Given the description of an element on the screen output the (x, y) to click on. 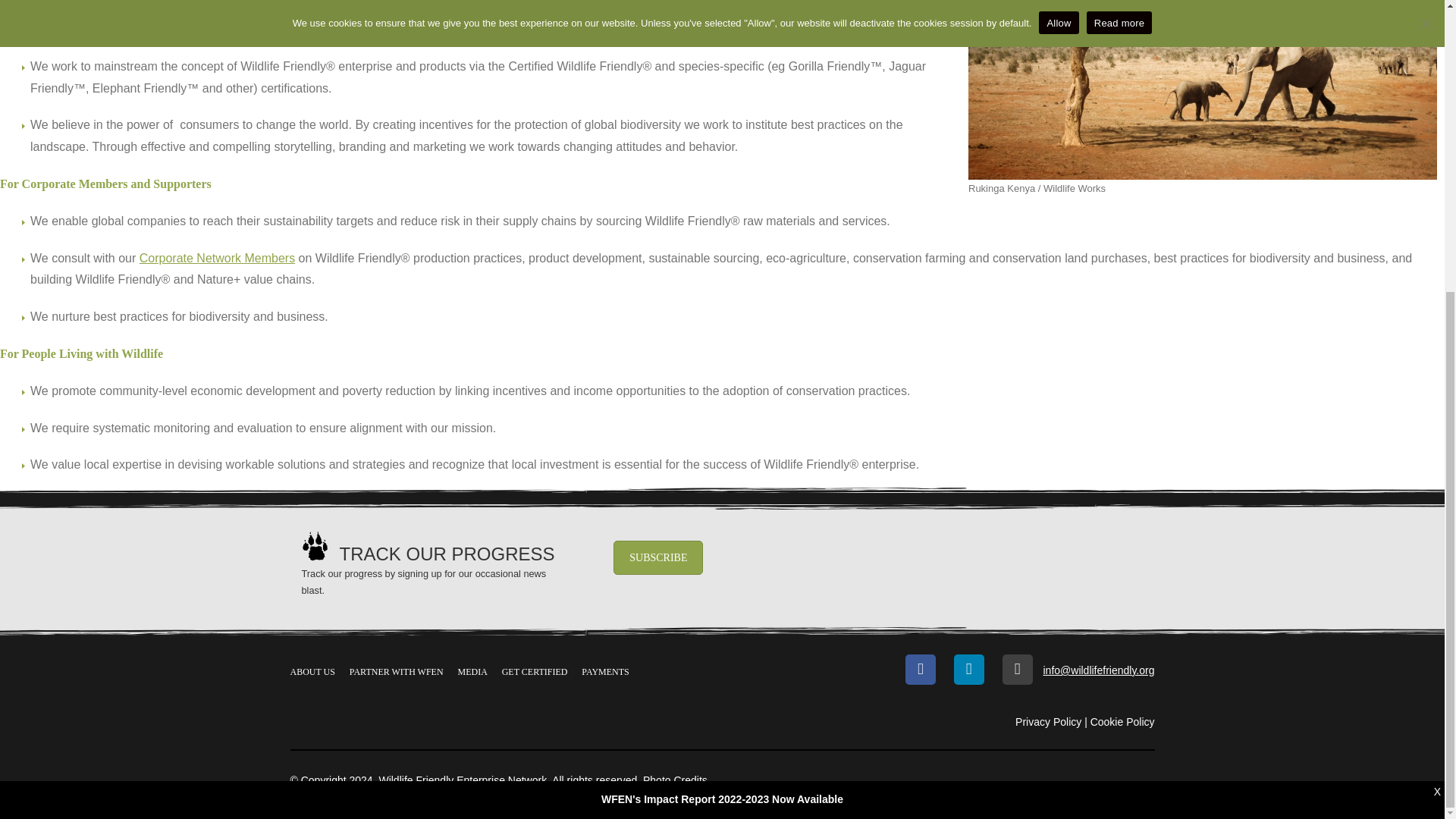
WFEN's Impact Report 2022-2023 Now Available (722, 354)
